Given the description of an element on the screen output the (x, y) to click on. 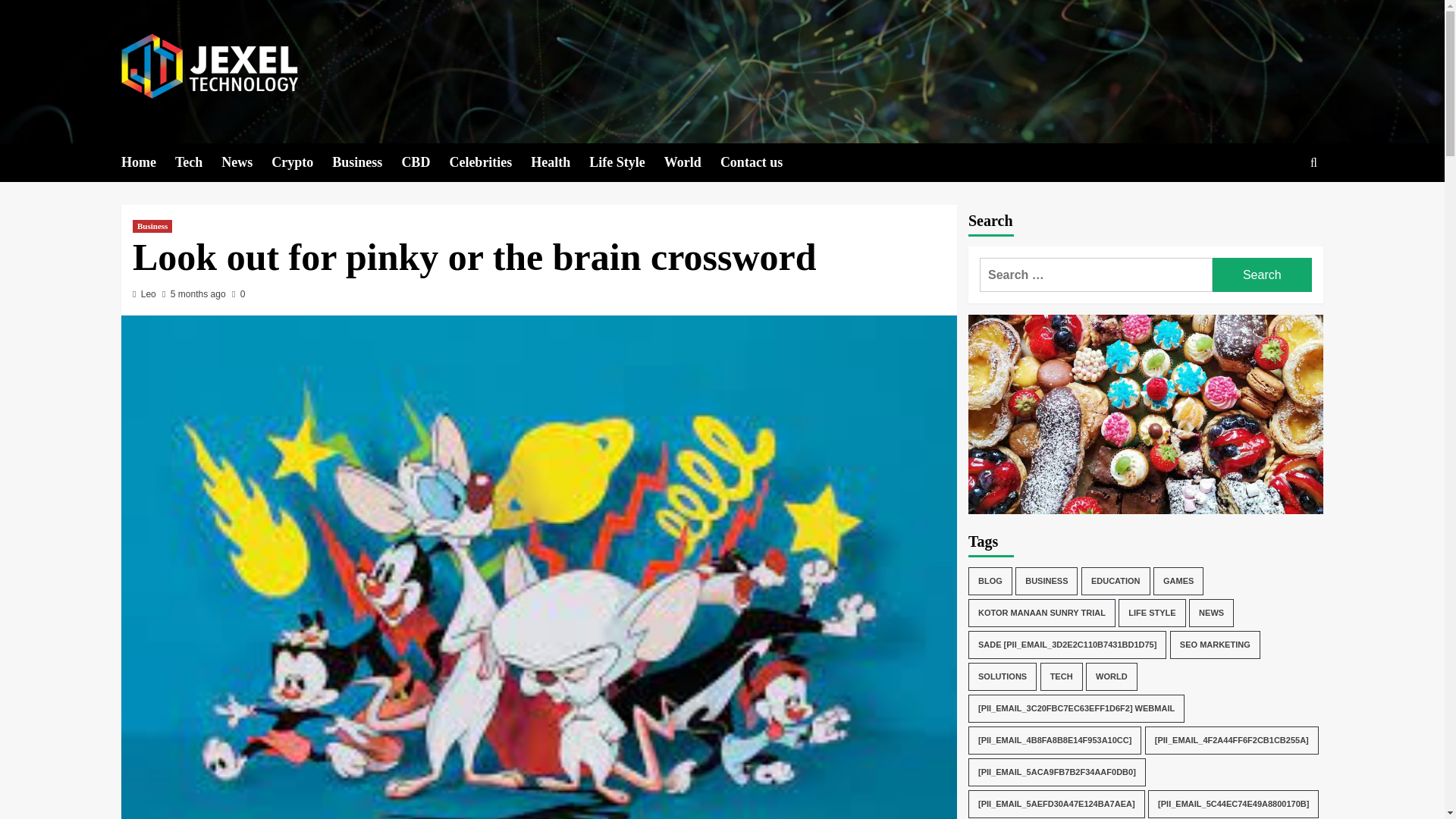
Life Style (626, 162)
News (245, 162)
World (691, 162)
Tech (197, 162)
Health (560, 162)
Search (1261, 274)
Search (1261, 274)
Crypto (300, 162)
Business (151, 226)
Business (366, 162)
